Given the description of an element on the screen output the (x, y) to click on. 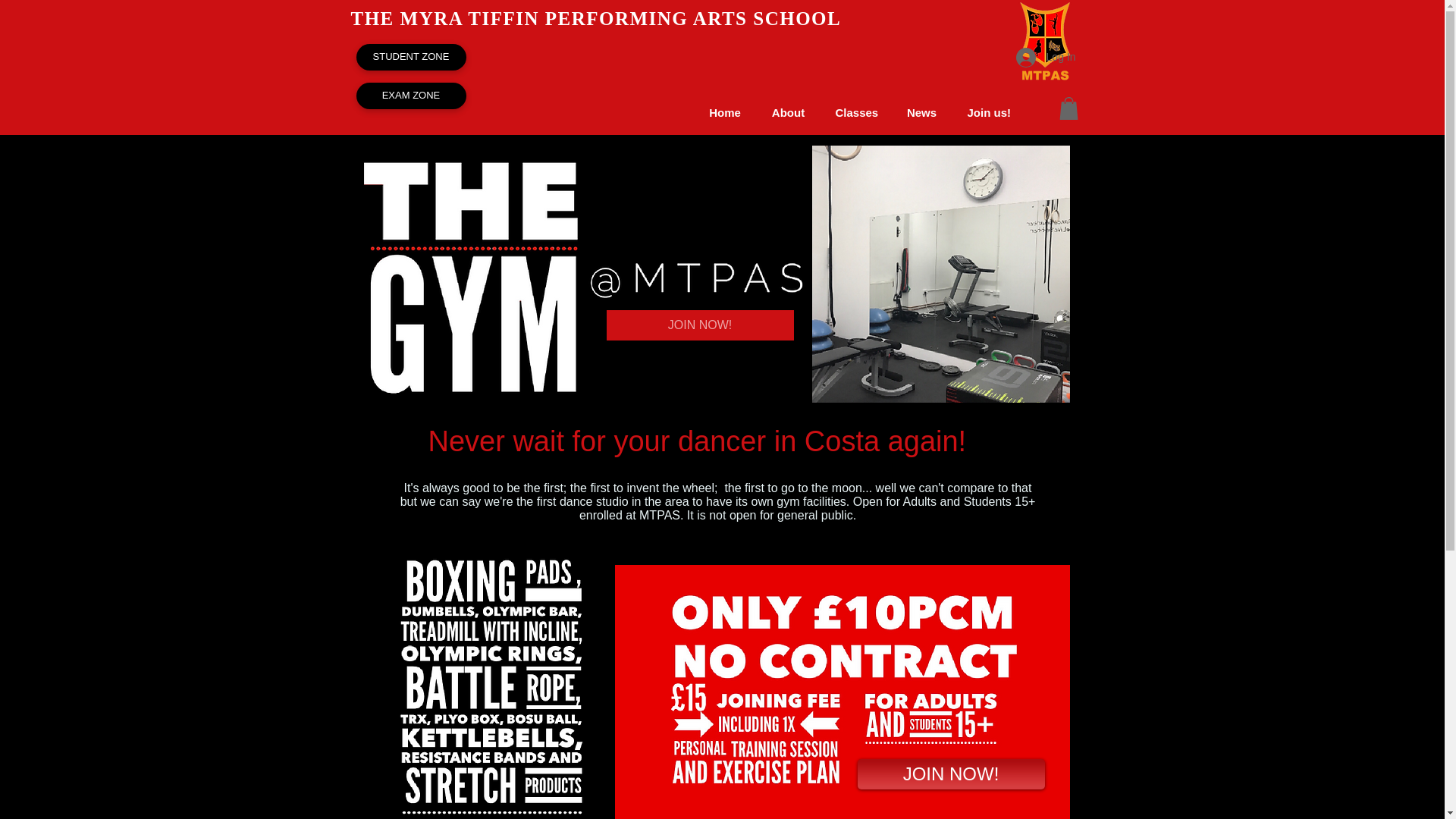
Classes (856, 111)
STUDENT ZONE (410, 57)
News (921, 111)
About (789, 111)
Log In (1046, 57)
THE MYRA TIFFIN PERFORMING ARTS SCHOOL (595, 18)
EXAM ZONE (410, 95)
JOIN NOW! (700, 325)
JOIN NOW! (950, 774)
Home (724, 111)
Join us! (987, 111)
